Given the description of an element on the screen output the (x, y) to click on. 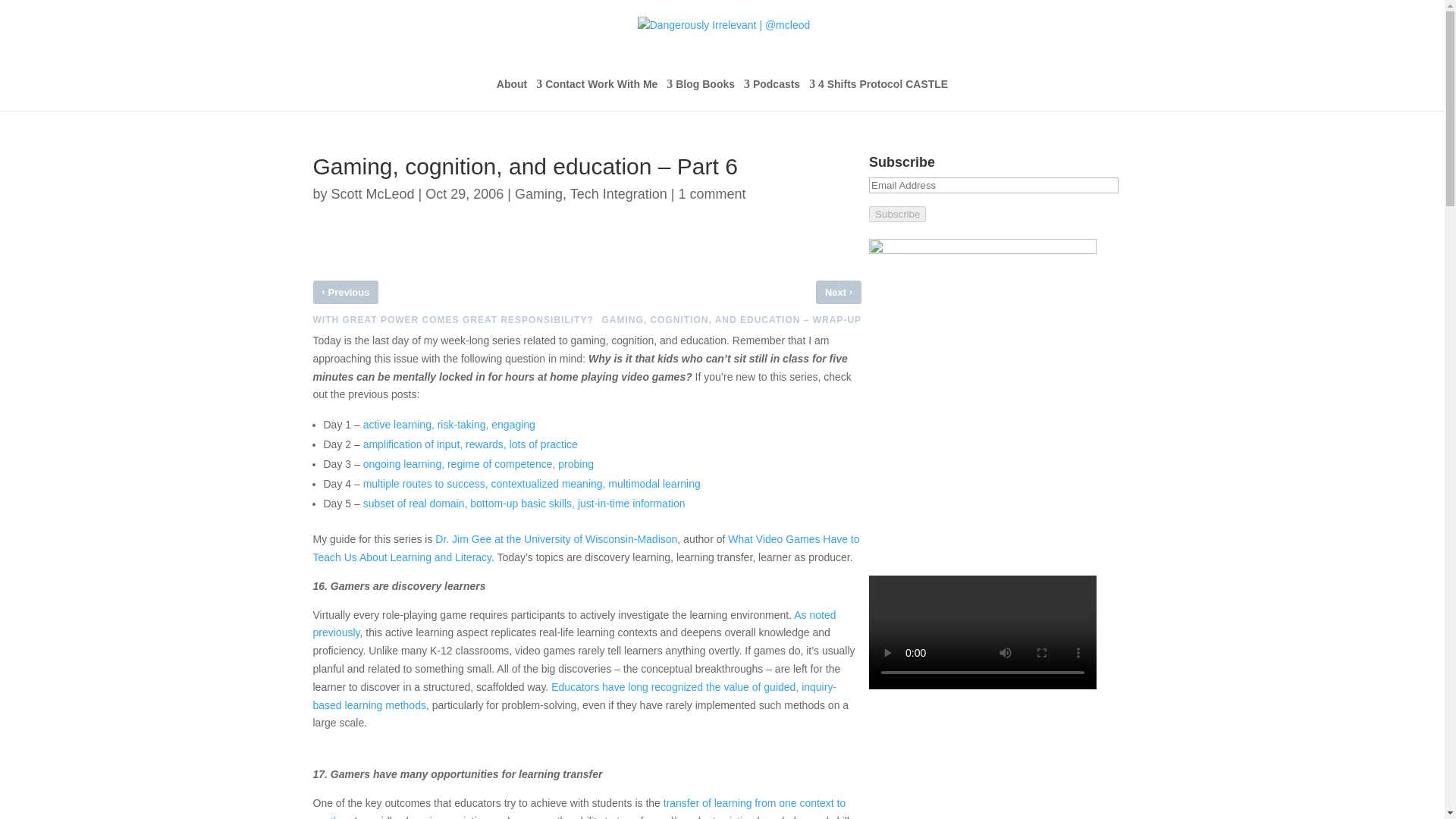
active learning, risk-taking, engaging (448, 424)
Gaming (538, 193)
amplification of input, rewards, lots of practice (470, 444)
ongoing learning, regime of competence, probing (478, 463)
Contact (564, 94)
Podcasts (783, 94)
Dr. Jim Gee at the University of Wisconsin-Madison (556, 539)
4 Shifts Protocol (860, 94)
